Given the description of an element on the screen output the (x, y) to click on. 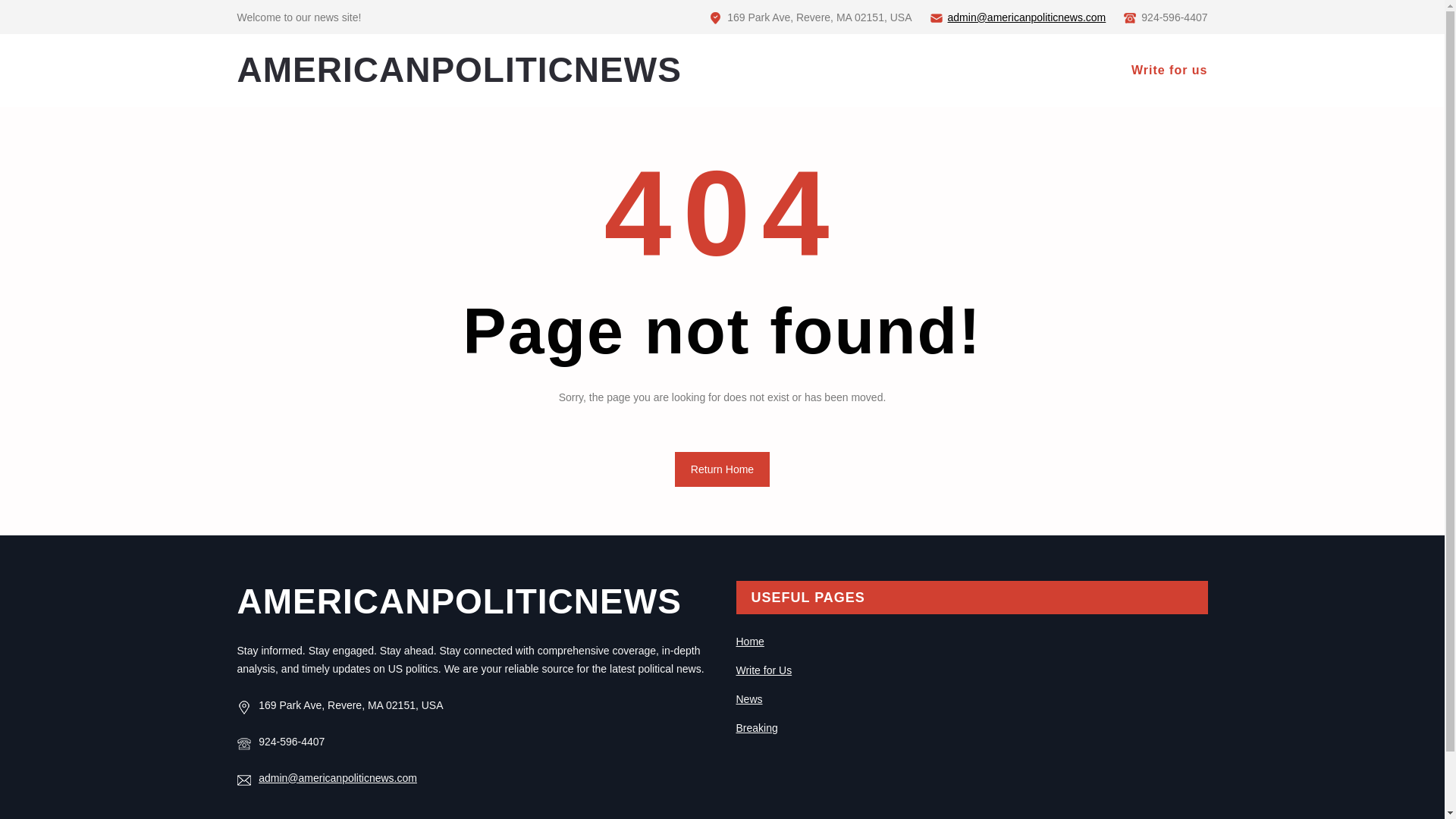
AMERICANPOLITICNEWS (458, 69)
Return Home (722, 469)
Write for Us (763, 670)
Write for us (1169, 70)
AMERICANPOLITICNEWS (458, 600)
News (748, 698)
Breaking (756, 727)
Home (748, 641)
